Given the description of an element on the screen output the (x, y) to click on. 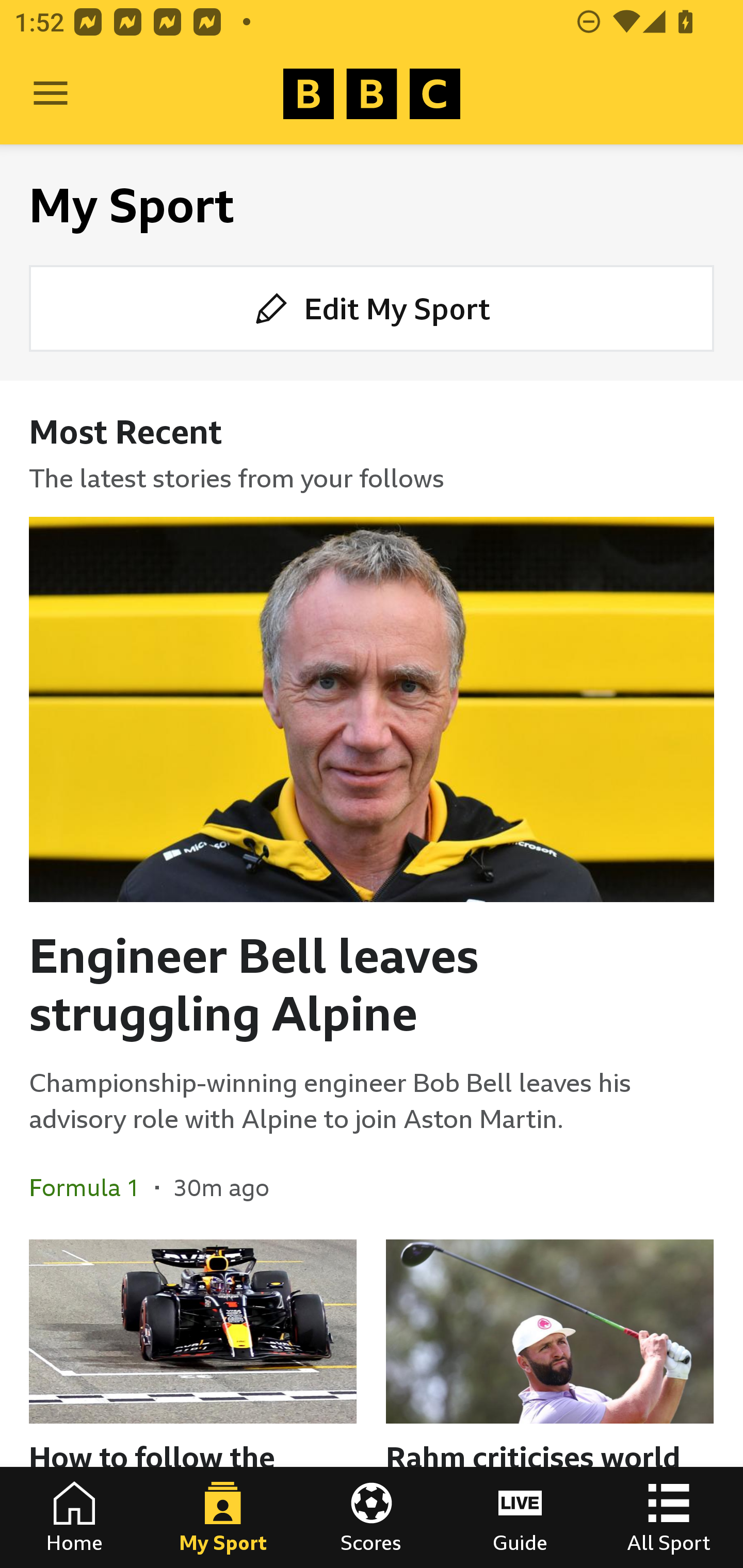
Open Menu (50, 93)
Edit My Sport (371, 307)
Home (74, 1517)
Scores (371, 1517)
Guide (519, 1517)
All Sport (668, 1517)
